Given the description of an element on the screen output the (x, y) to click on. 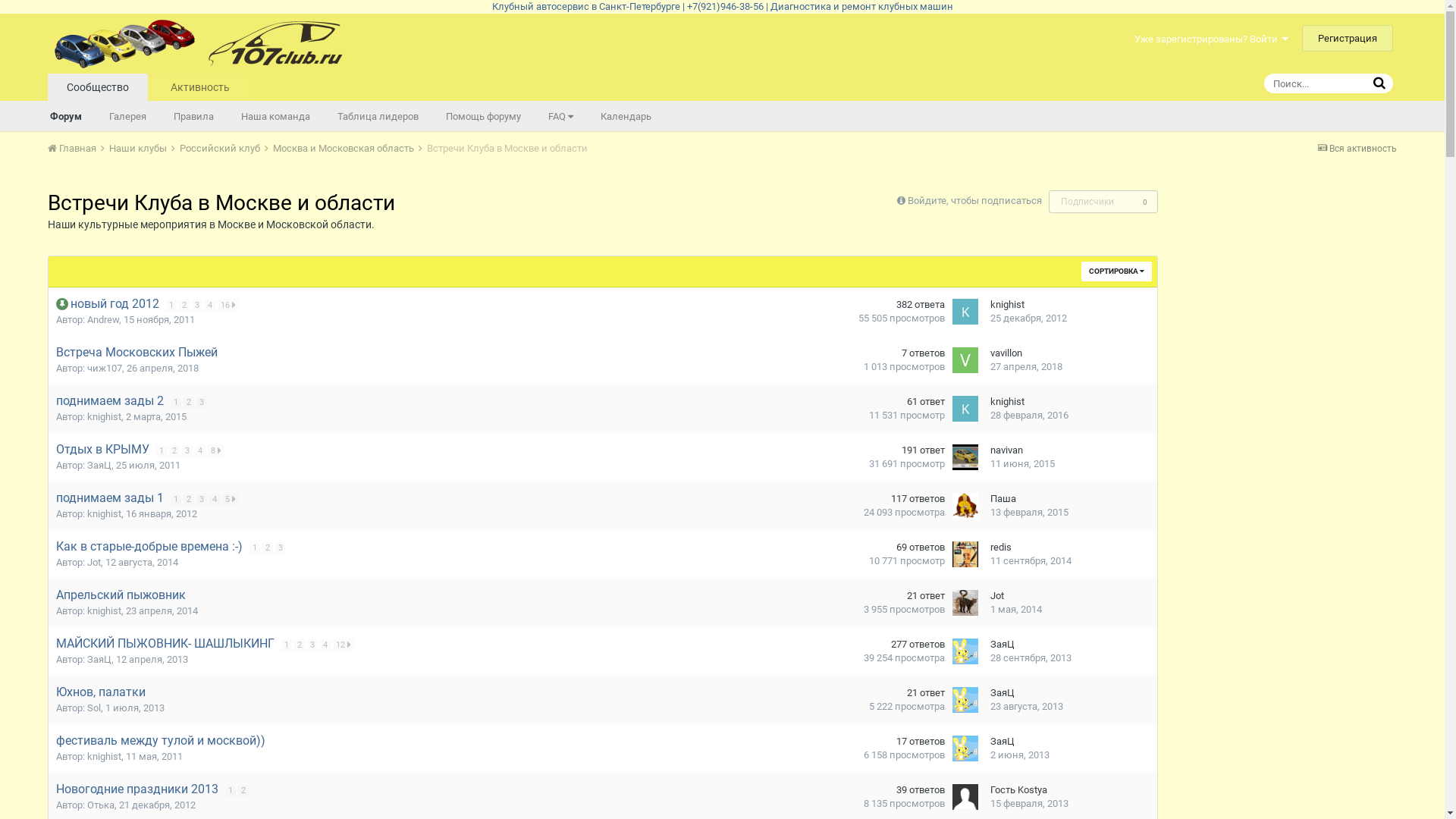
2 Element type: text (267, 548)
navivan Element type: text (1006, 449)
Jot Element type: text (997, 595)
redis Element type: text (1000, 546)
1 Element type: text (230, 790)
knighist Element type: text (1007, 401)
knighist Element type: text (104, 756)
2 Element type: text (243, 790)
2 Element type: text (188, 499)
4 Element type: text (209, 305)
1 Element type: text (254, 548)
2 Element type: text (188, 402)
1 Element type: text (171, 305)
2 Element type: text (174, 451)
1 Element type: text (161, 451)
knighist Element type: text (104, 513)
1 Element type: text (175, 402)
knighist Element type: text (1007, 304)
vavillon Element type: text (1006, 352)
1 Element type: text (175, 499)
FAQ Element type: text (560, 114)
4 Element type: text (325, 645)
12 Element type: text (343, 644)
3 Element type: text (312, 645)
4 Element type: text (199, 451)
1 Element type: text (286, 645)
knighist Element type: text (104, 610)
8 Element type: text (215, 450)
4 Element type: text (214, 499)
5 Element type: text (230, 498)
16 Element type: text (227, 304)
2 Element type: text (183, 305)
3 Element type: text (196, 305)
2 Element type: text (299, 645)
Andrew Element type: text (103, 319)
3 Element type: text (201, 499)
3 Element type: text (187, 451)
Sol Element type: text (93, 707)
3 Element type: text (280, 548)
Jot Element type: text (93, 561)
knighist Element type: text (104, 416)
3 Element type: text (201, 402)
